Given the description of an element on the screen output the (x, y) to click on. 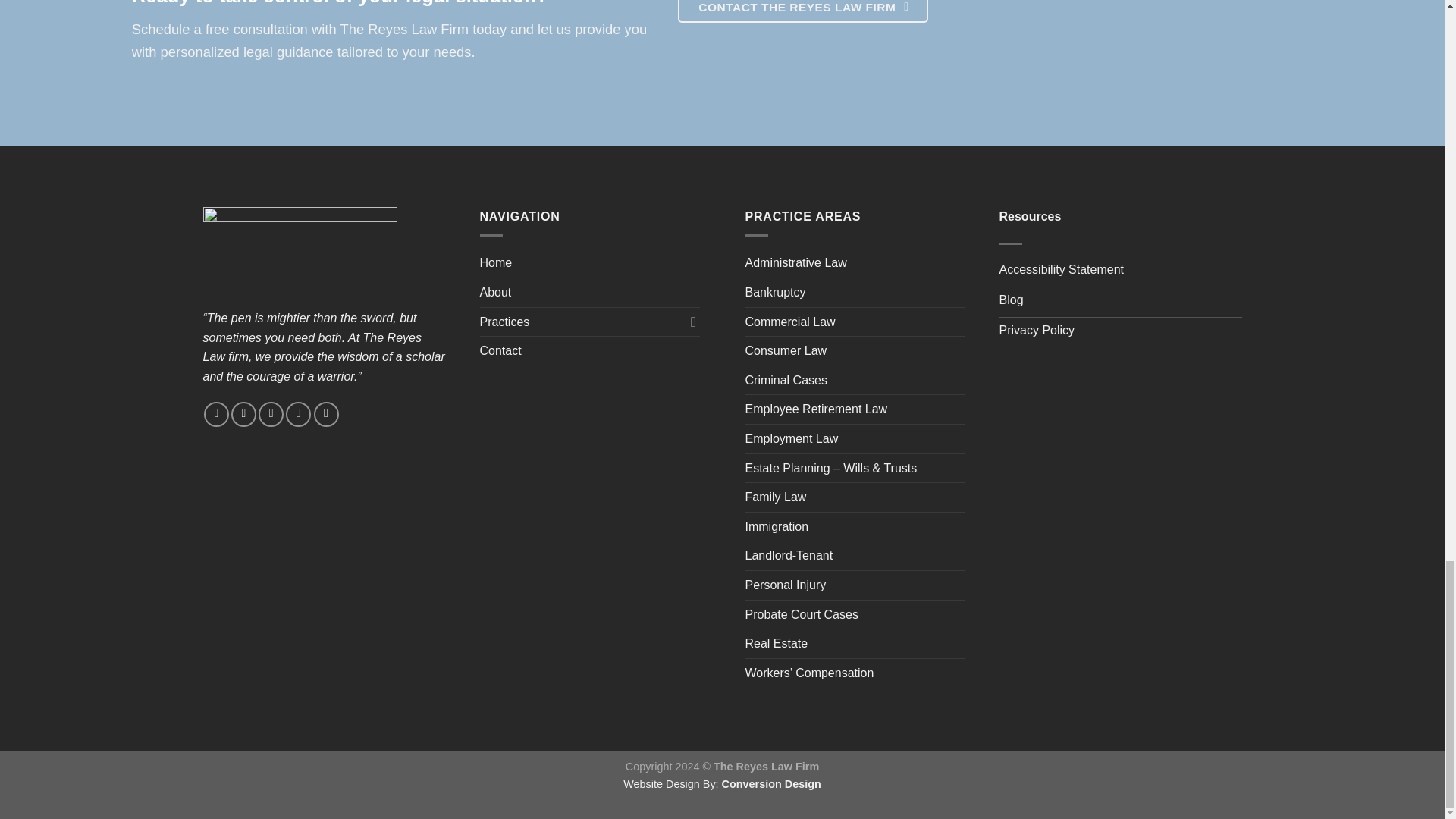
Follow on Twitter (271, 414)
Send us an email (298, 414)
Call us (326, 414)
Follow on Facebook (215, 414)
Follow on Instagram (243, 414)
CONTACT THE REYES LAW FIRM (803, 11)
